Given the description of an element on the screen output the (x, y) to click on. 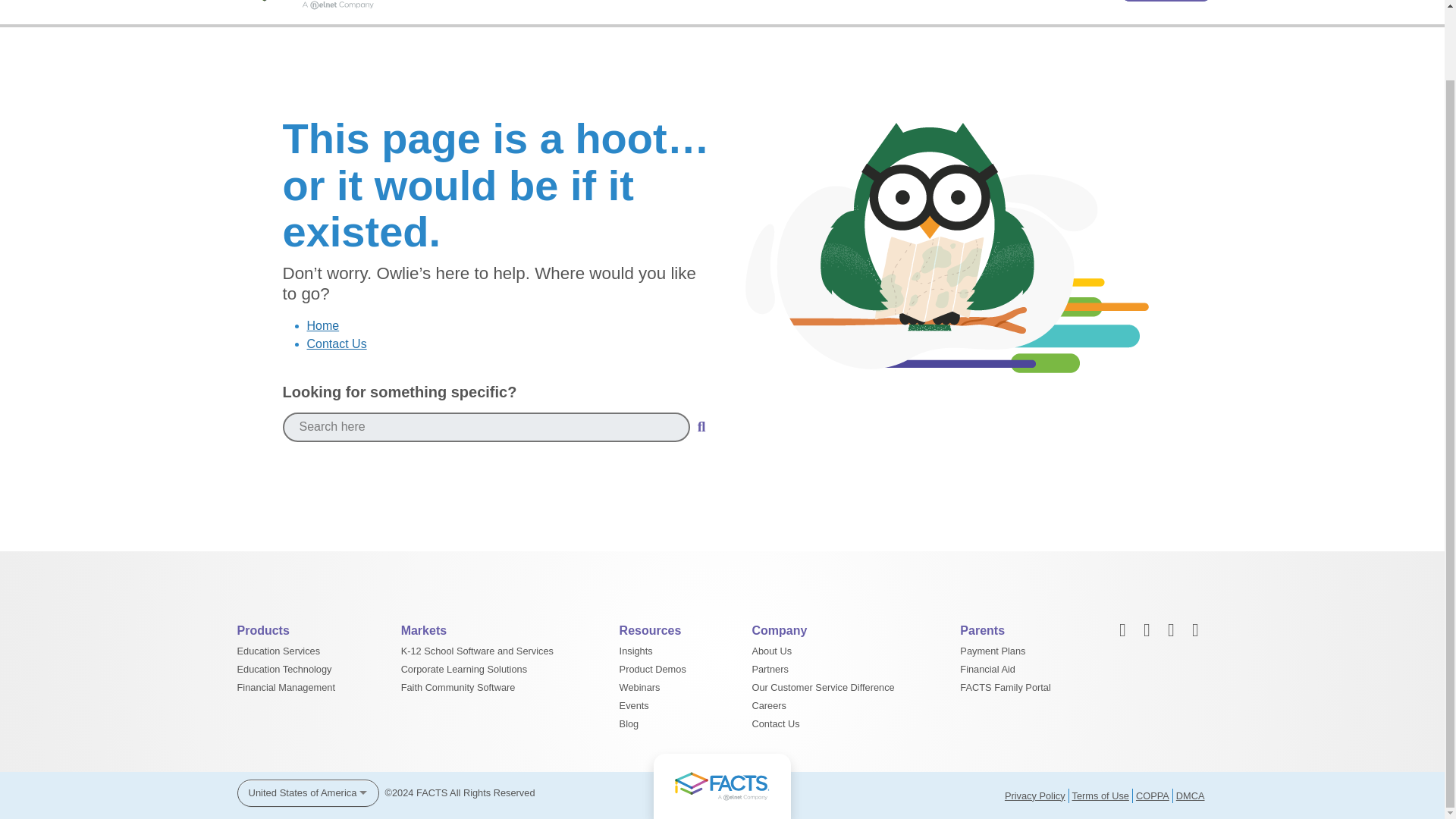
Products (692, 1)
Markets (776, 1)
Company (960, 1)
Resources (866, 1)
